Given the description of an element on the screen output the (x, y) to click on. 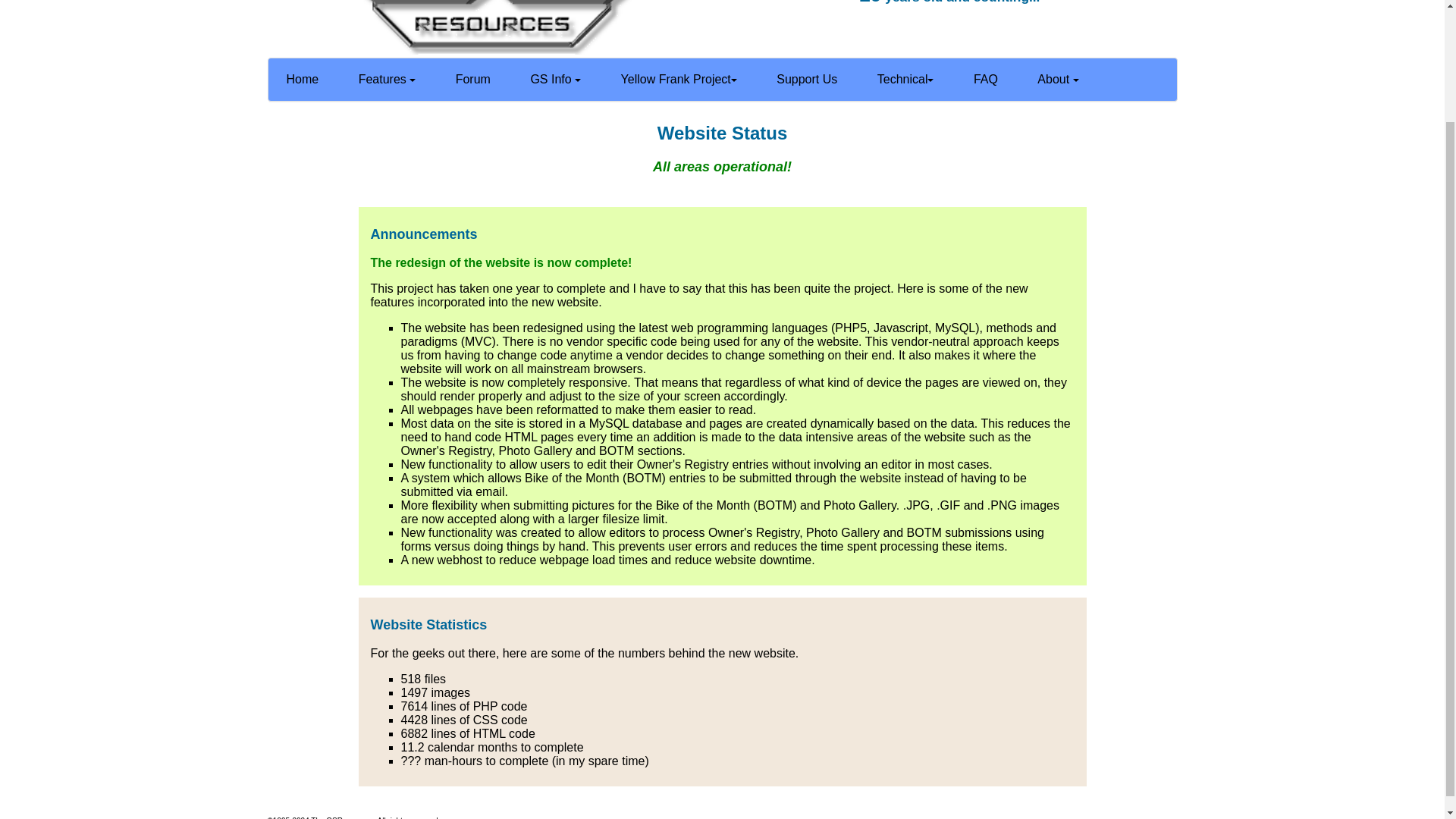
Yellow Frank Project (678, 79)
Technical (905, 79)
FAQ (985, 79)
Support Us (807, 79)
GS Info (555, 79)
Features (386, 79)
Forum (473, 79)
Home (302, 79)
About (1057, 79)
